Given the description of an element on the screen output the (x, y) to click on. 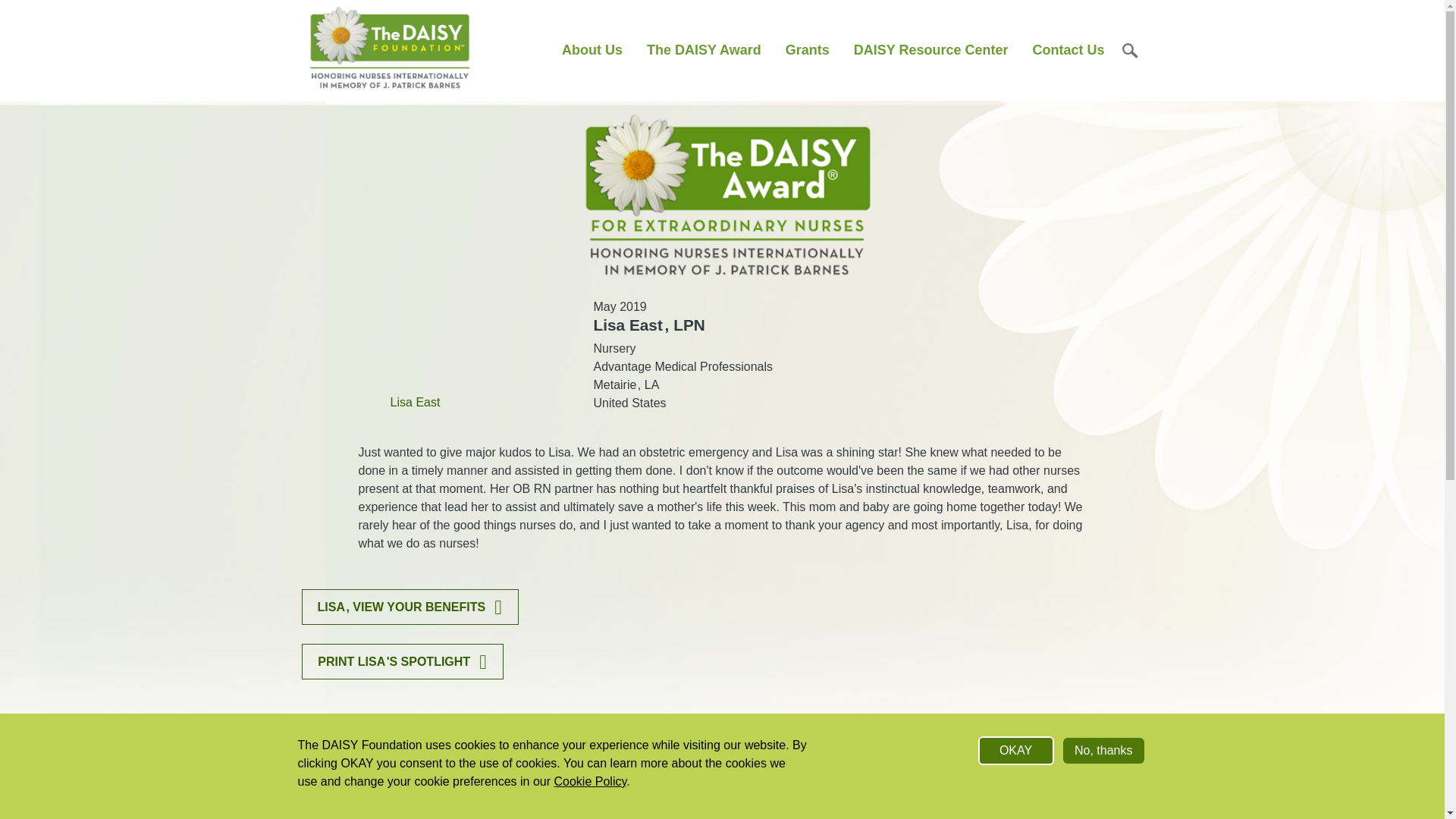
Search (1106, 126)
DAISY Resource Center (930, 50)
Search (1129, 50)
The DAISY Award (703, 50)
Grants (807, 50)
LISA , VIEW YOUR BENEFITS (409, 606)
PRINT LISA 'S SPOTLIGHT (402, 661)
Home (390, 50)
Skip to main content (721, 1)
About Us (592, 50)
Contact Us (1068, 50)
